Given the description of an element on the screen output the (x, y) to click on. 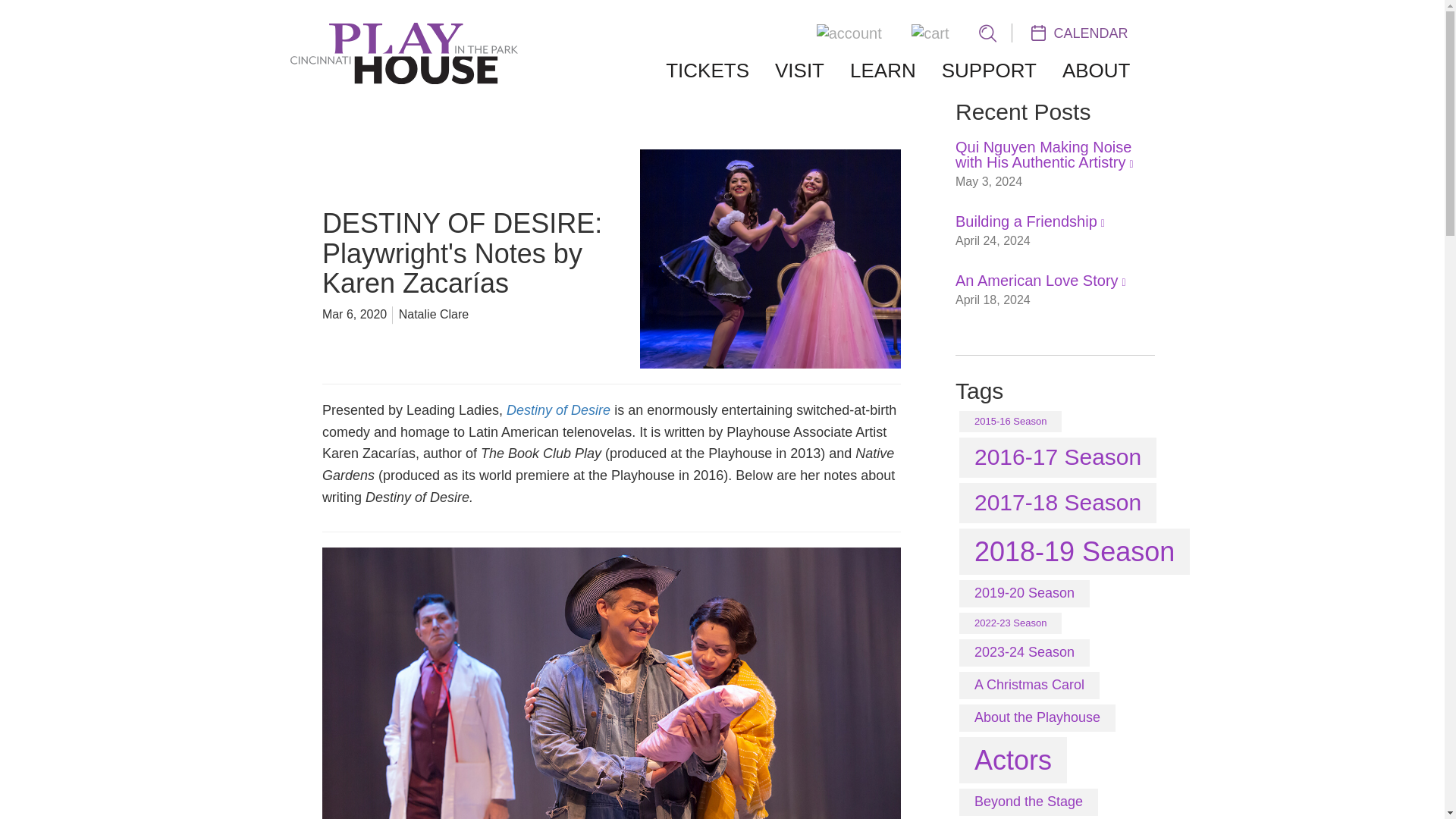
LEARN (882, 70)
ABOUT (1095, 70)
VISIT (799, 70)
SUPPORT (988, 70)
TICKETS (706, 70)
CALENDAR (1079, 31)
